Given the description of an element on the screen output the (x, y) to click on. 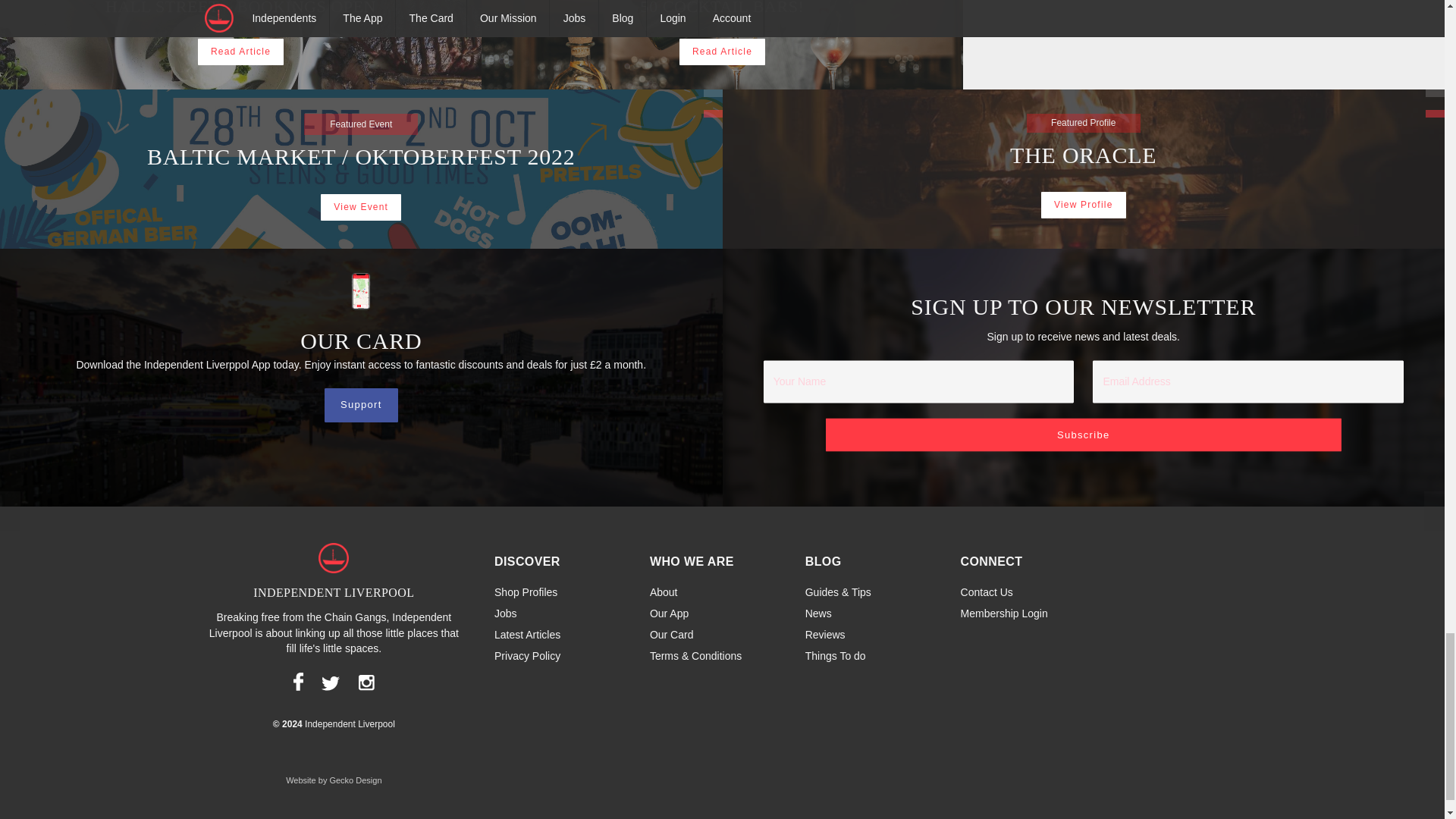
View All Events (712, 93)
Subscribe (1082, 434)
Featured Event (712, 113)
